Given the description of an element on the screen output the (x, y) to click on. 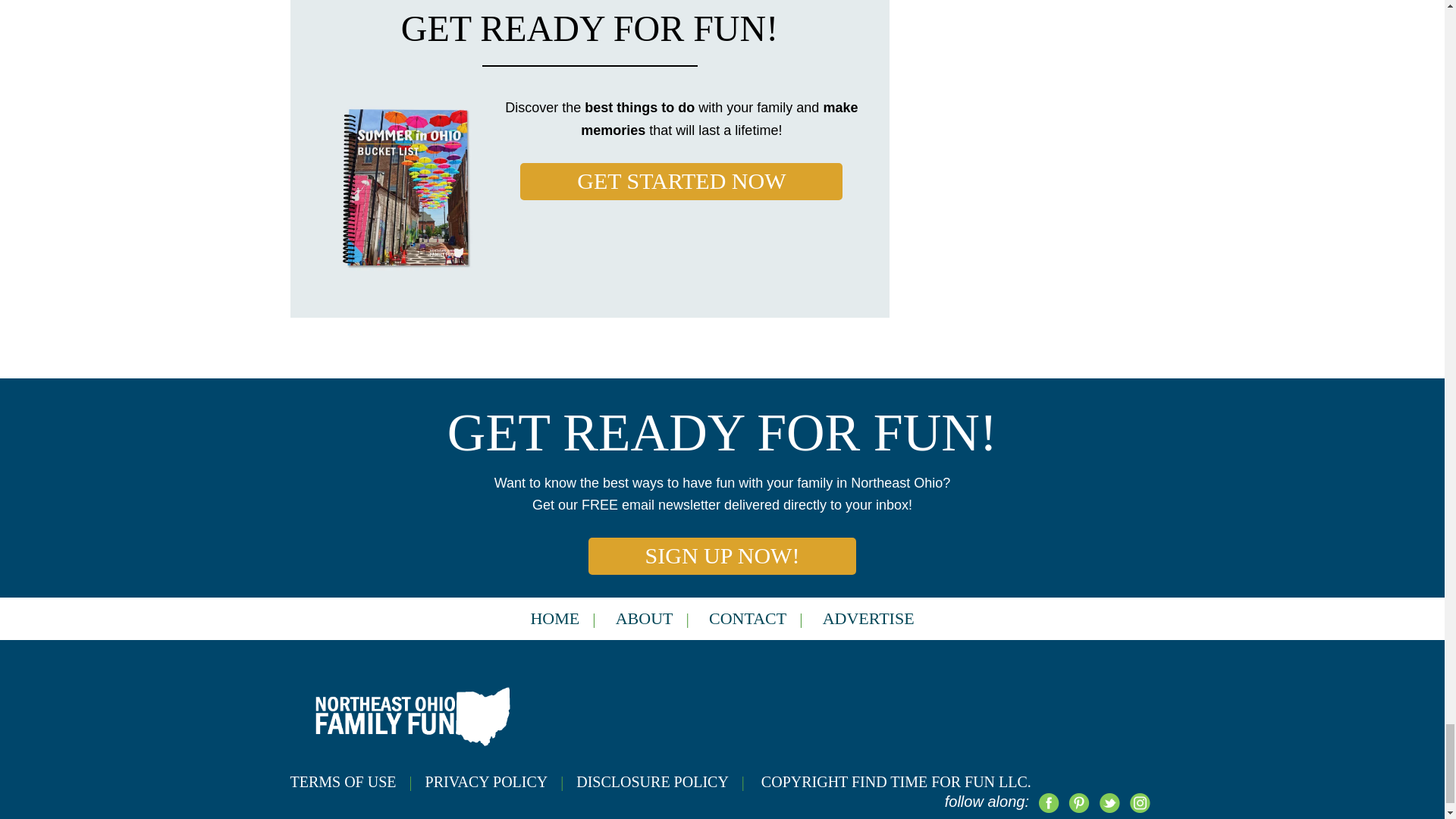
Instagram (1139, 801)
Disclosure Policy (666, 781)
Twitter (1108, 801)
Facebook (1047, 801)
Privacy Policy (500, 781)
Pinterest (1077, 801)
Terms of Use (357, 781)
